Given the description of an element on the screen output the (x, y) to click on. 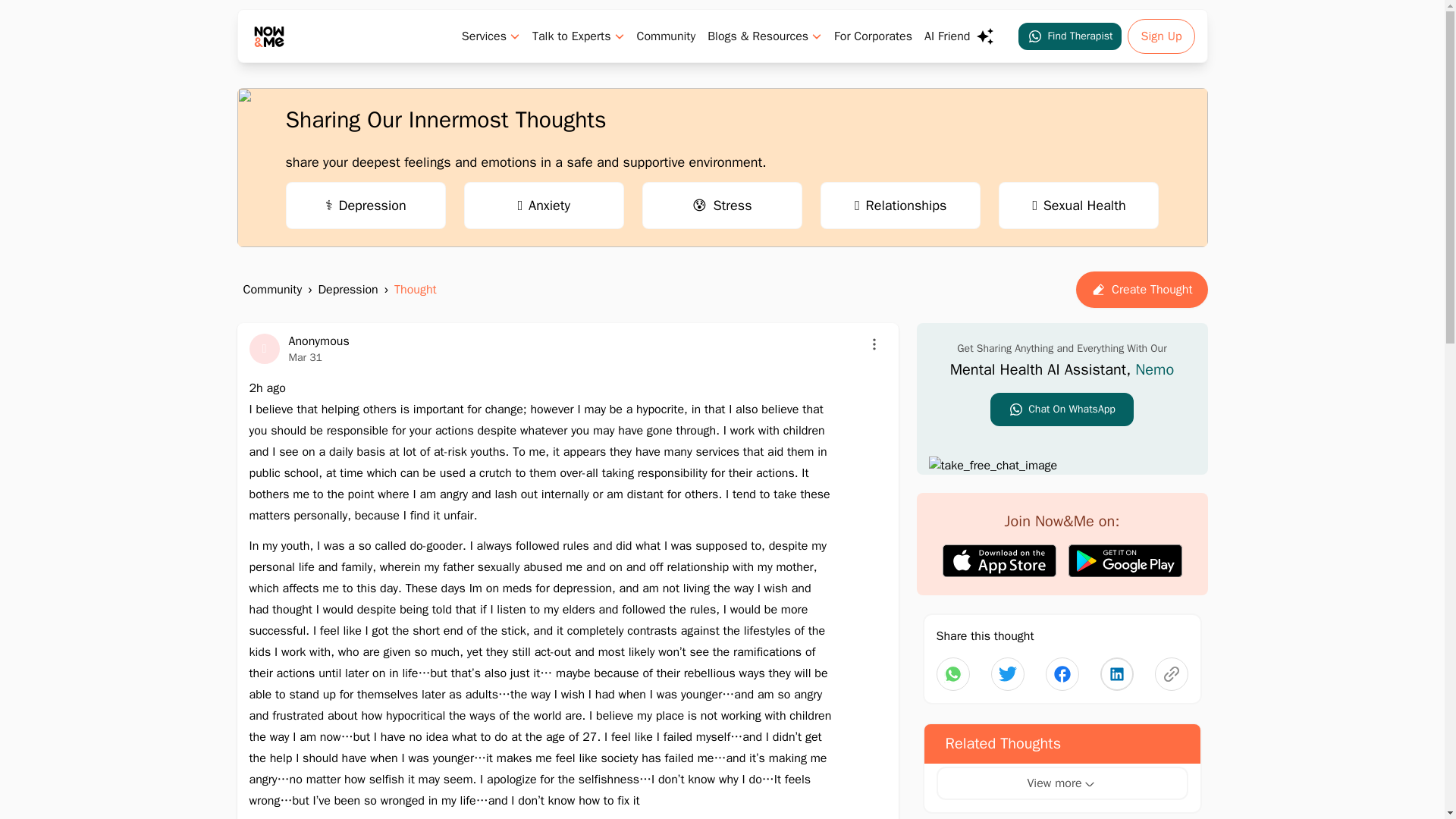
Share on Twitter (1115, 674)
Share on WhatsApp (952, 674)
Share on Twitter (1006, 674)
Share on Twitter (1061, 674)
